Given the description of an element on the screen output the (x, y) to click on. 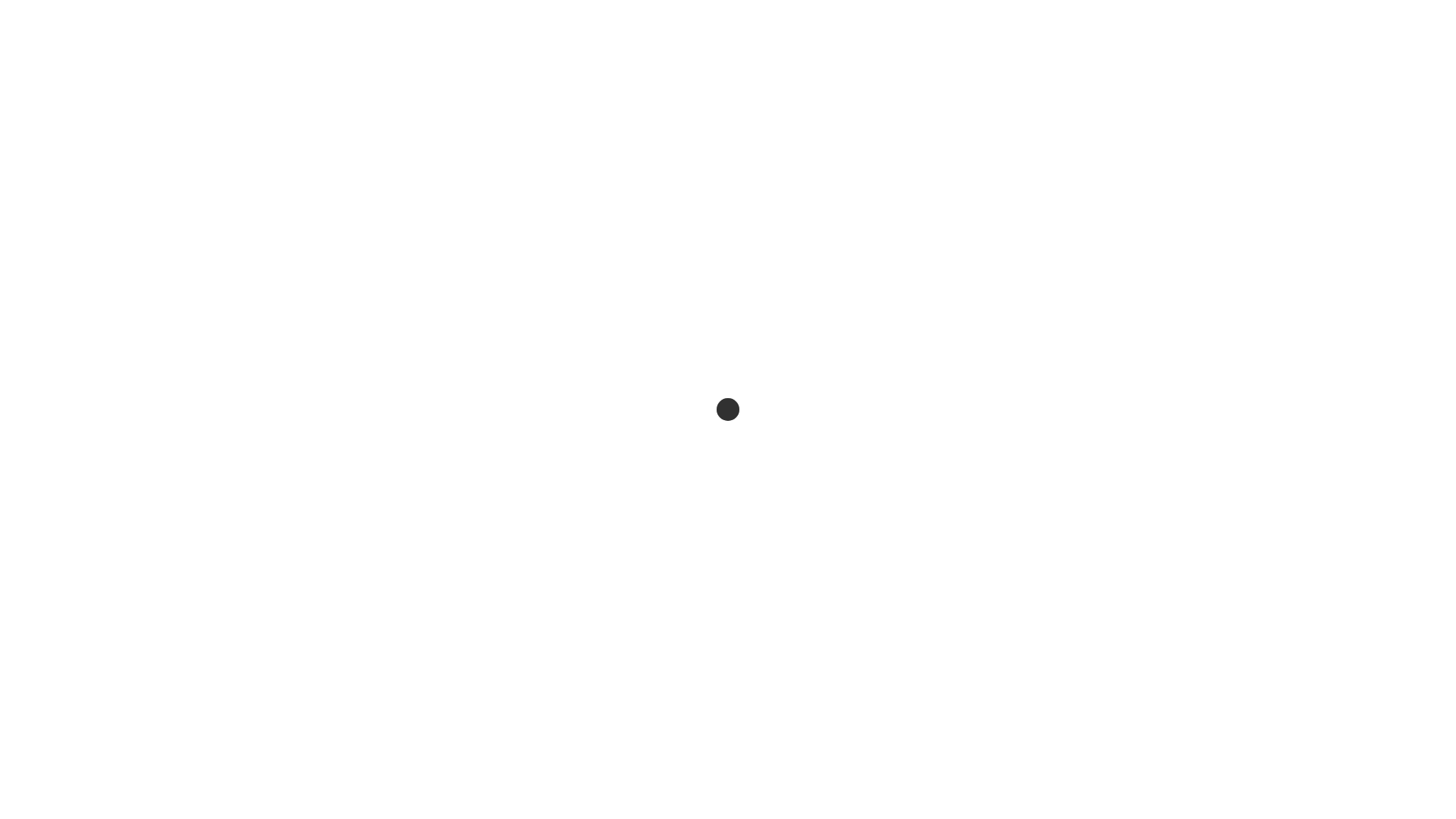
Support Us Element type: text (1077, 68)
Home Element type: text (755, 68)
History Element type: text (903, 68)
For Creatives Element type: text (986, 68)
